Given the description of an element on the screen output the (x, y) to click on. 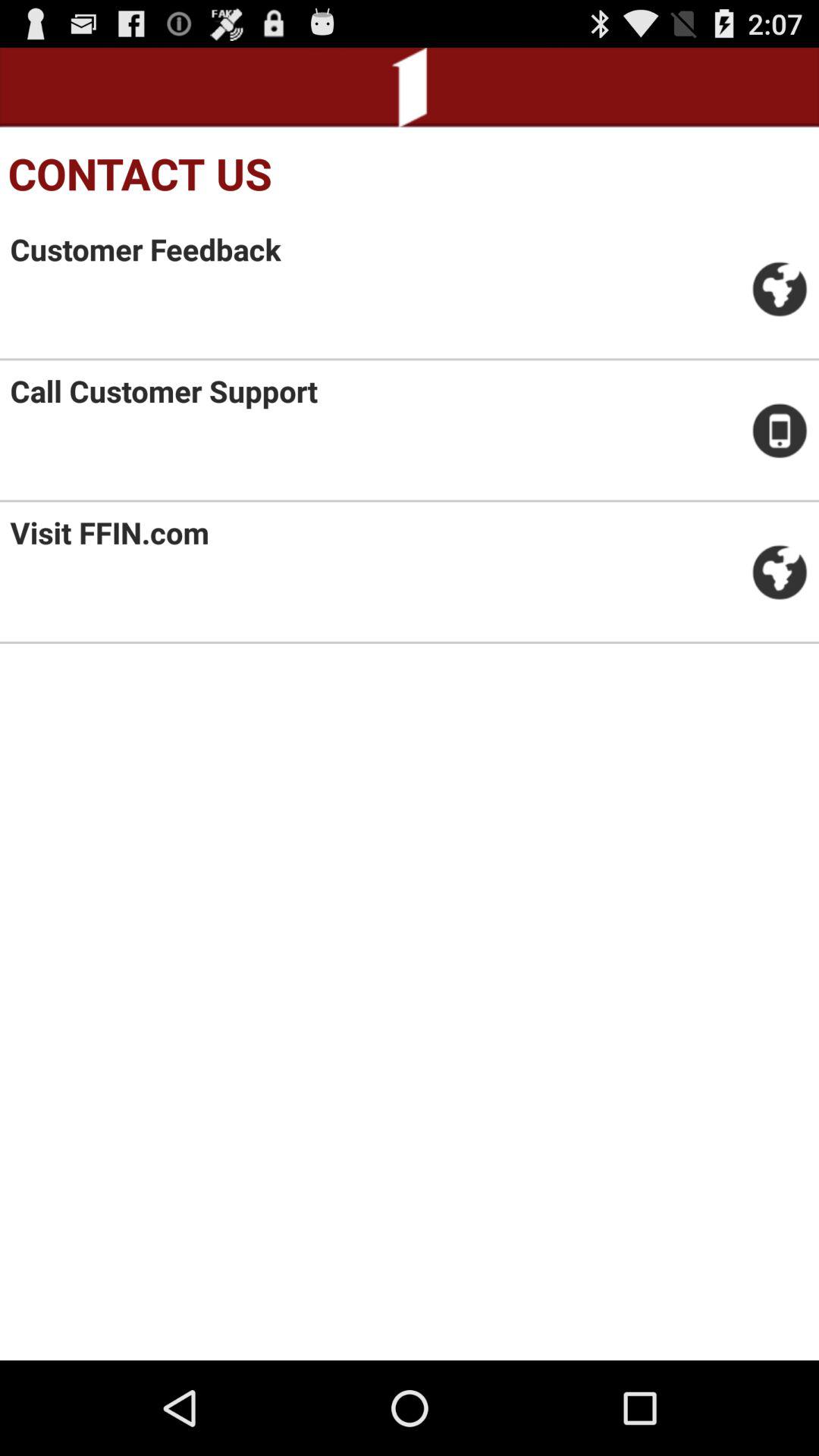
select the icon below the contact us item (145, 249)
